Given the description of an element on the screen output the (x, y) to click on. 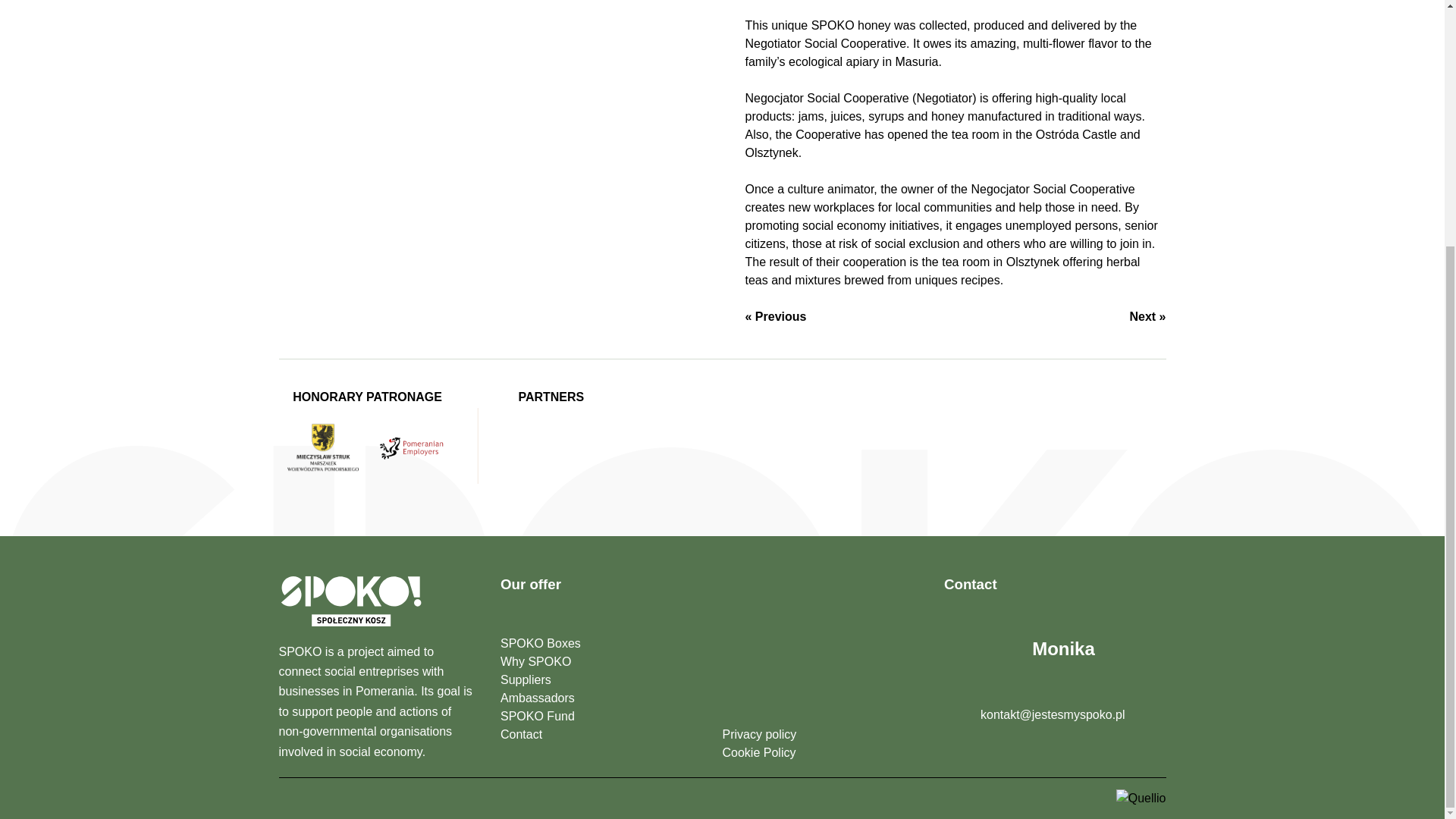
Cookie Policy (821, 752)
Suppliers (600, 679)
SPOKO Boxes (600, 643)
Contact (600, 734)
SPOKO Fund (600, 716)
Why SPOKO (600, 661)
Suppliers (600, 679)
Privacy policy (821, 734)
Cookie Policy (821, 752)
SPOKO Fund (600, 716)
